Given the description of an element on the screen output the (x, y) to click on. 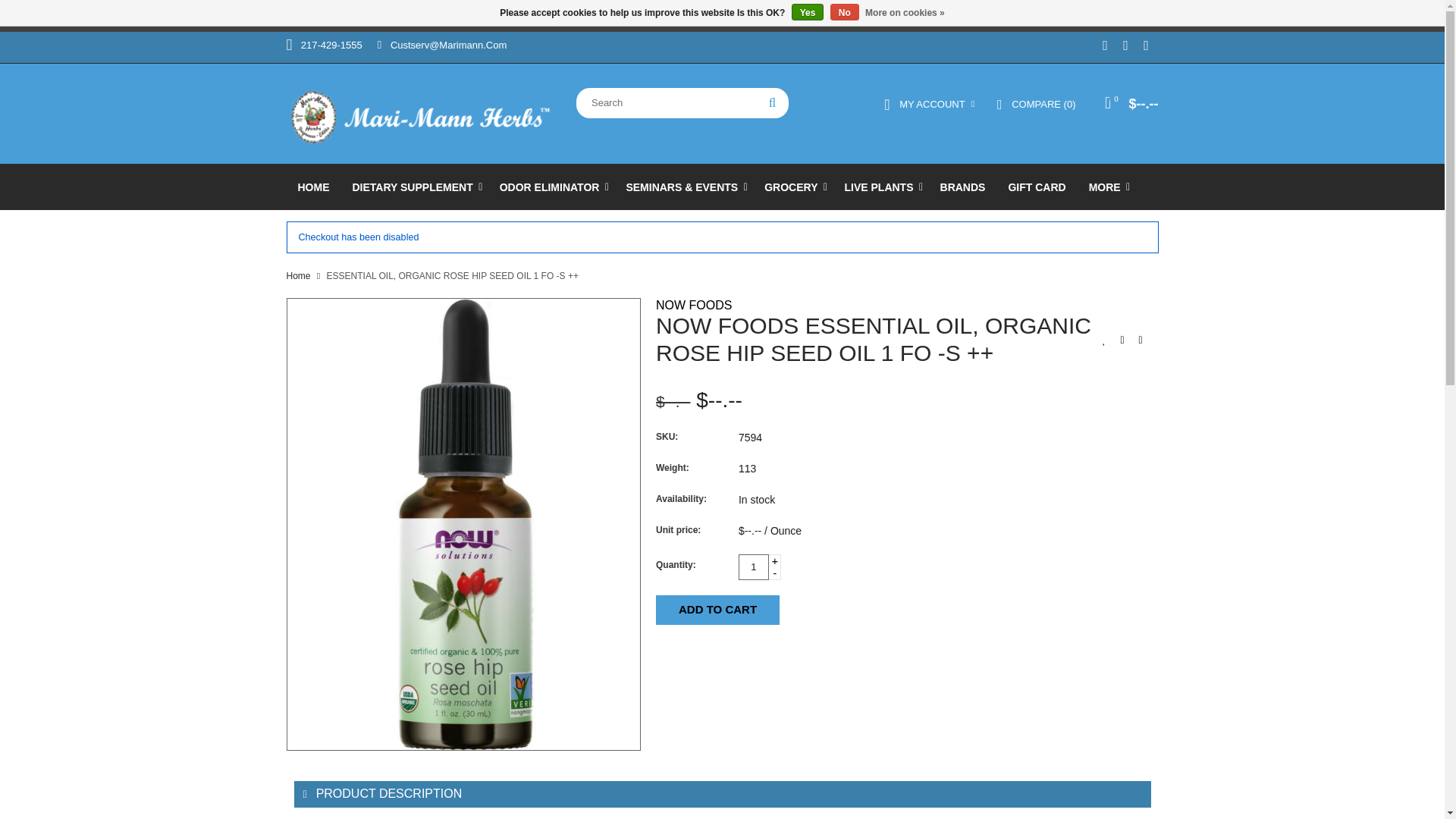
217-429-1555 (324, 43)
DIETARY SUPPLEMENT (413, 186)
Email (441, 43)
1 (753, 566)
Compare (1036, 104)
HOME (313, 186)
Pinterest MARI-MANN HERB CO., INC. (1126, 46)
Home (313, 186)
DIETARY SUPPLEMENT (413, 186)
Search (772, 102)
